Given the description of an element on the screen output the (x, y) to click on. 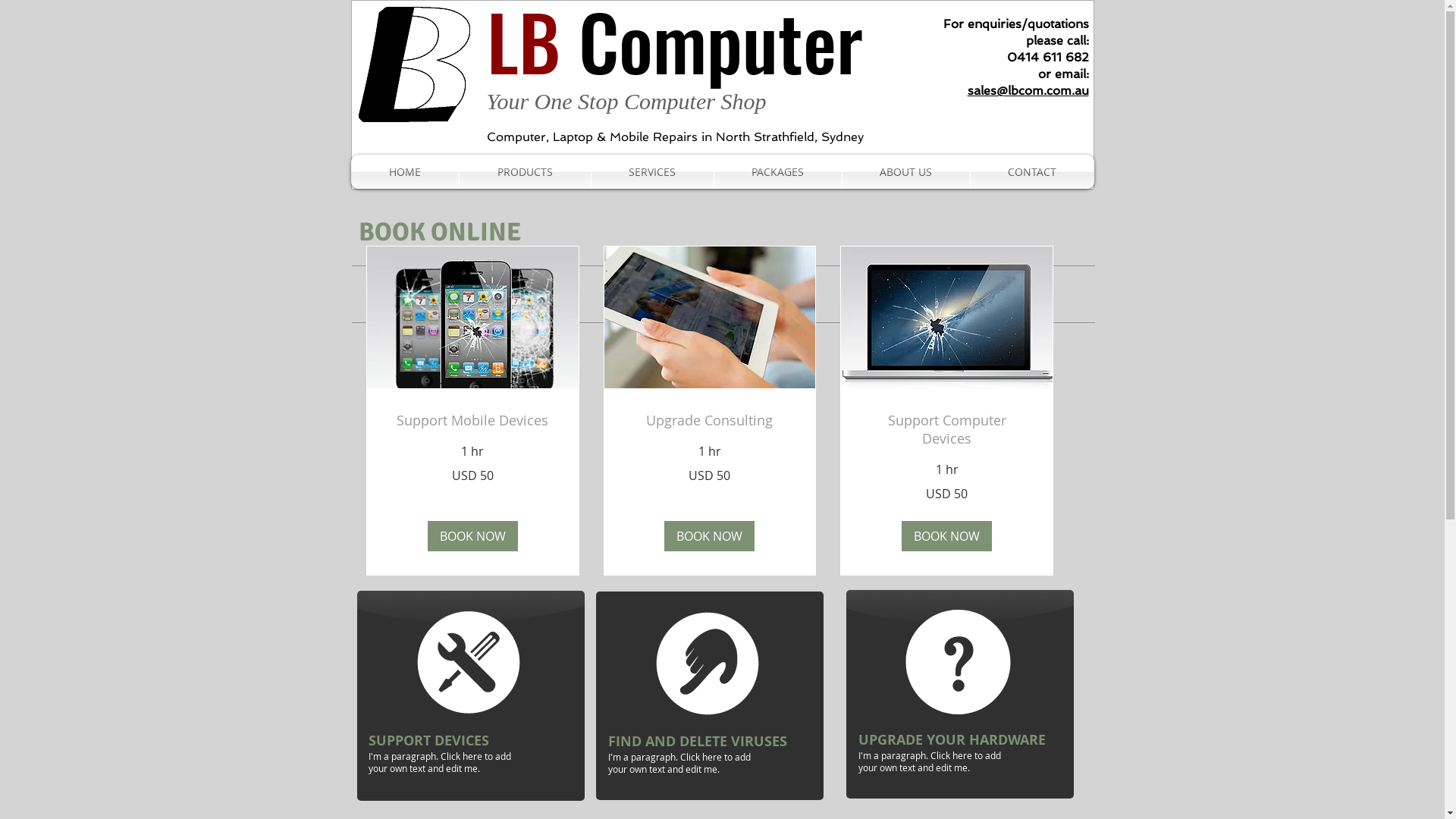
Support Computer Devices Element type: text (946, 429)
CONTACT Element type: text (1032, 171)
BOOK NOW Element type: text (471, 535)
PACKAGES Element type: text (777, 171)
HOME Element type: text (404, 171)
sales@lbcom.com.au Element type: text (1027, 90)
PRODUCTS Element type: text (524, 171)
ABOUT US Element type: text (905, 171)
BOOK NOW Element type: text (946, 535)
SERVICES Element type: text (652, 171)
Upgrade Consulting Element type: text (709, 420)
Support Mobile Devices Element type: text (471, 420)
BOOK NOW Element type: text (709, 535)
